Given the description of an element on the screen output the (x, y) to click on. 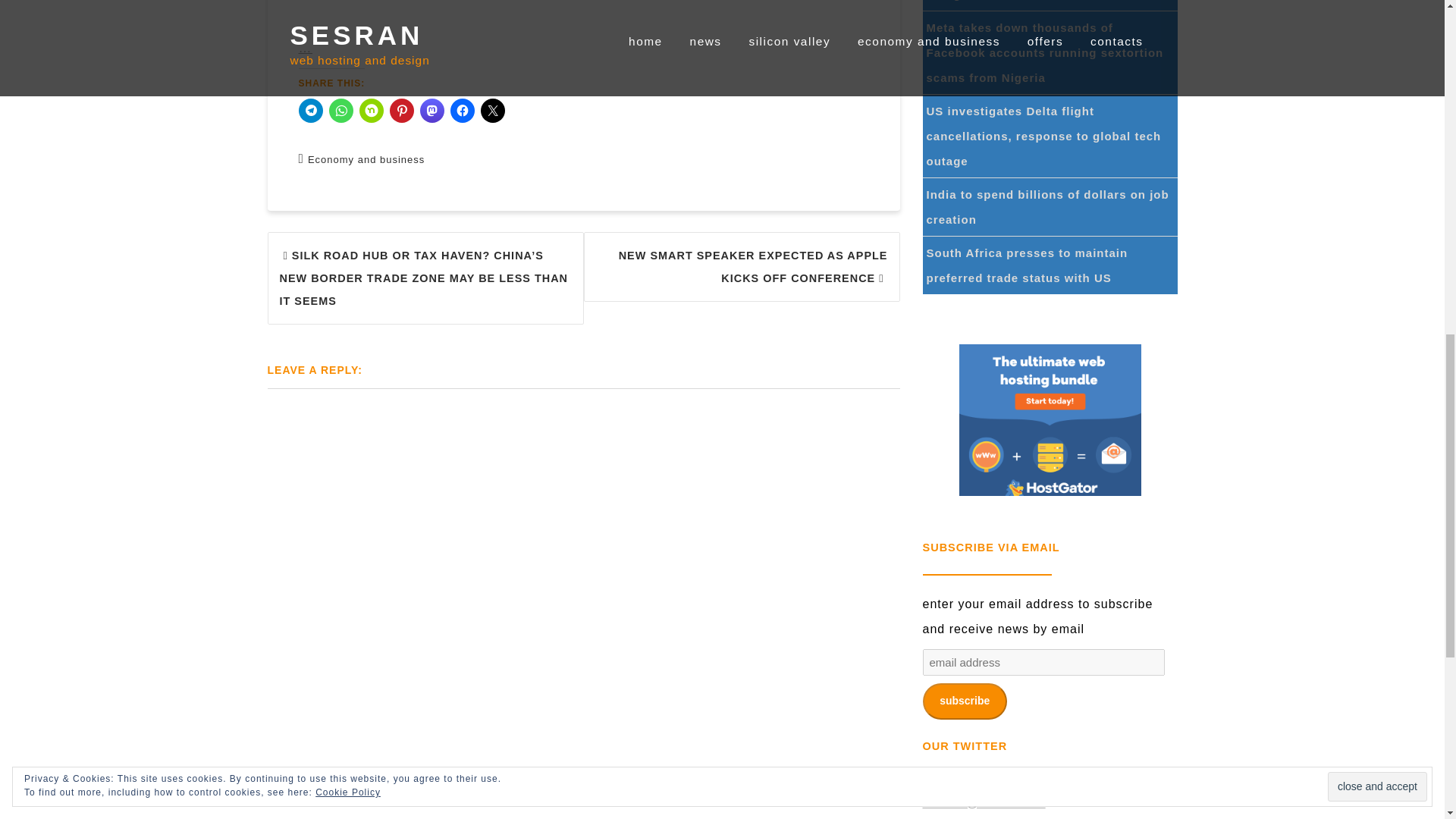
Click to share on Mastodon (432, 110)
subscribe (963, 701)
Click to share on Telegram (310, 110)
Economy and business (366, 159)
Click to share on Nextdoor (371, 110)
India to spend billions of dollars on job creation (1047, 207)
Click to share on X (492, 110)
Click to share on WhatsApp (341, 110)
Click to share on Pinterest (401, 110)
Click to share on Facebook (461, 110)
